Given the description of an element on the screen output the (x, y) to click on. 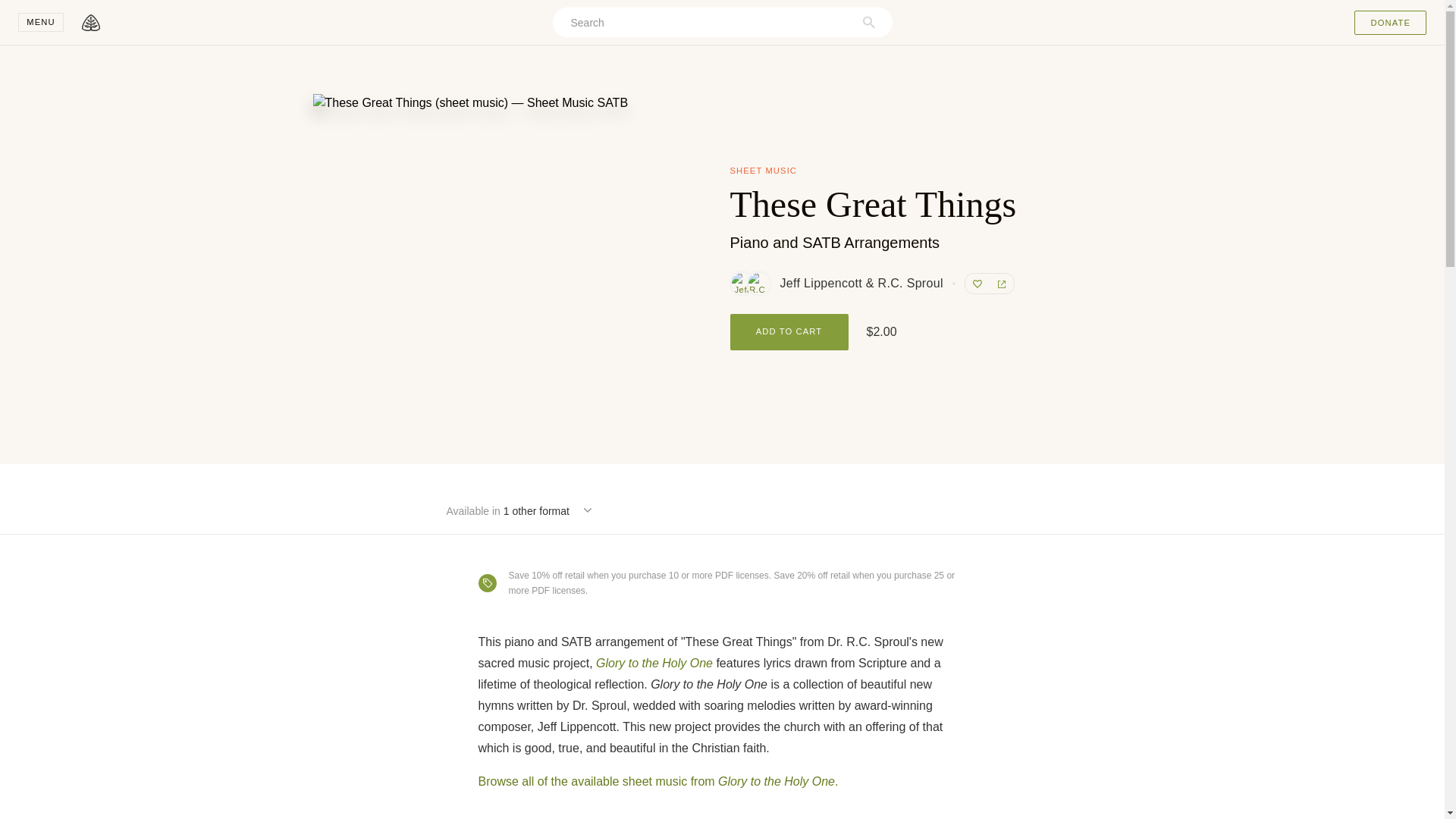
R.C. Sproul (757, 283)
MENU (40, 22)
Jeff Lippencott (741, 283)
